Given the description of an element on the screen output the (x, y) to click on. 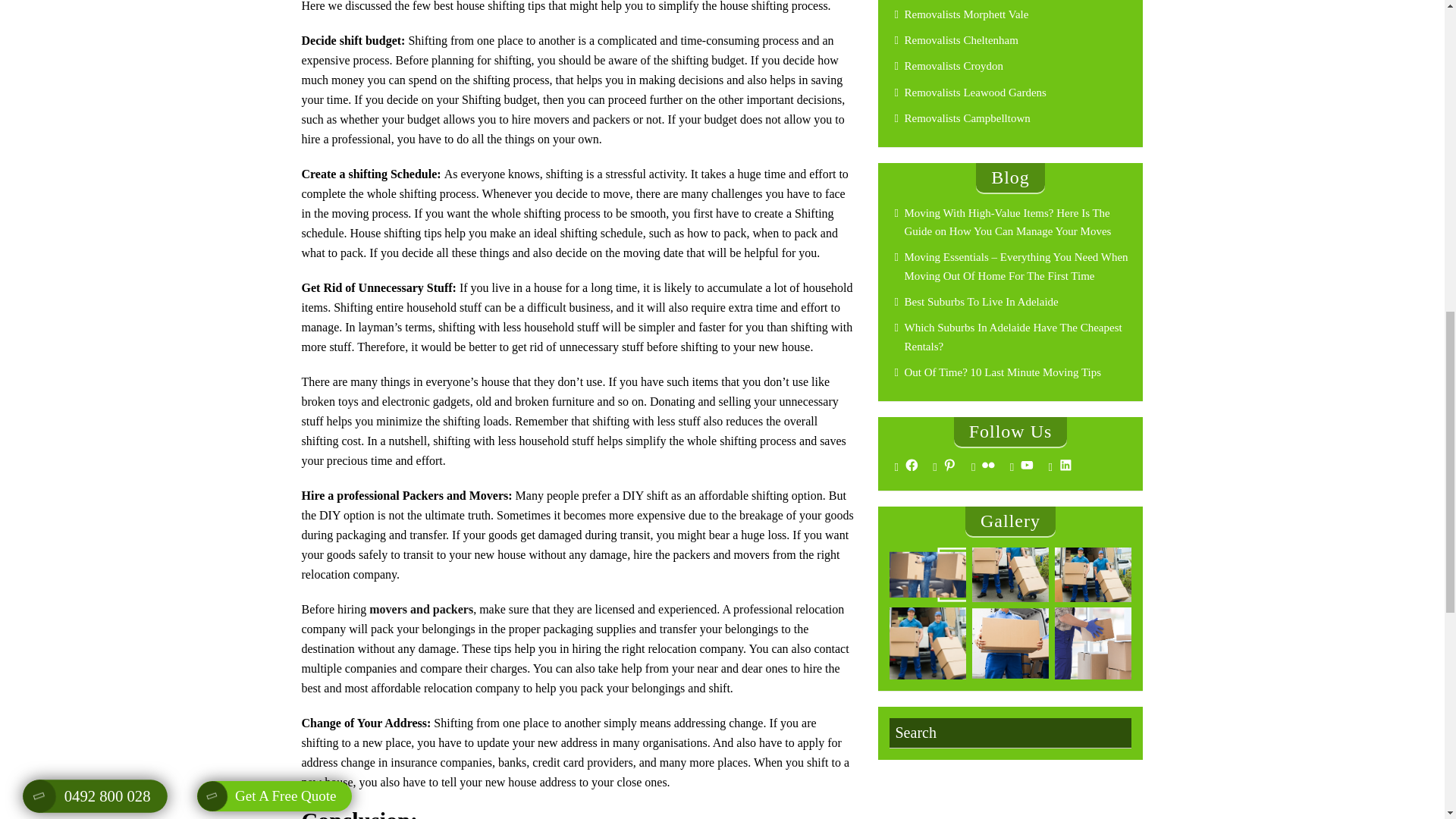
Search (1009, 732)
